Given the description of an element on the screen output the (x, y) to click on. 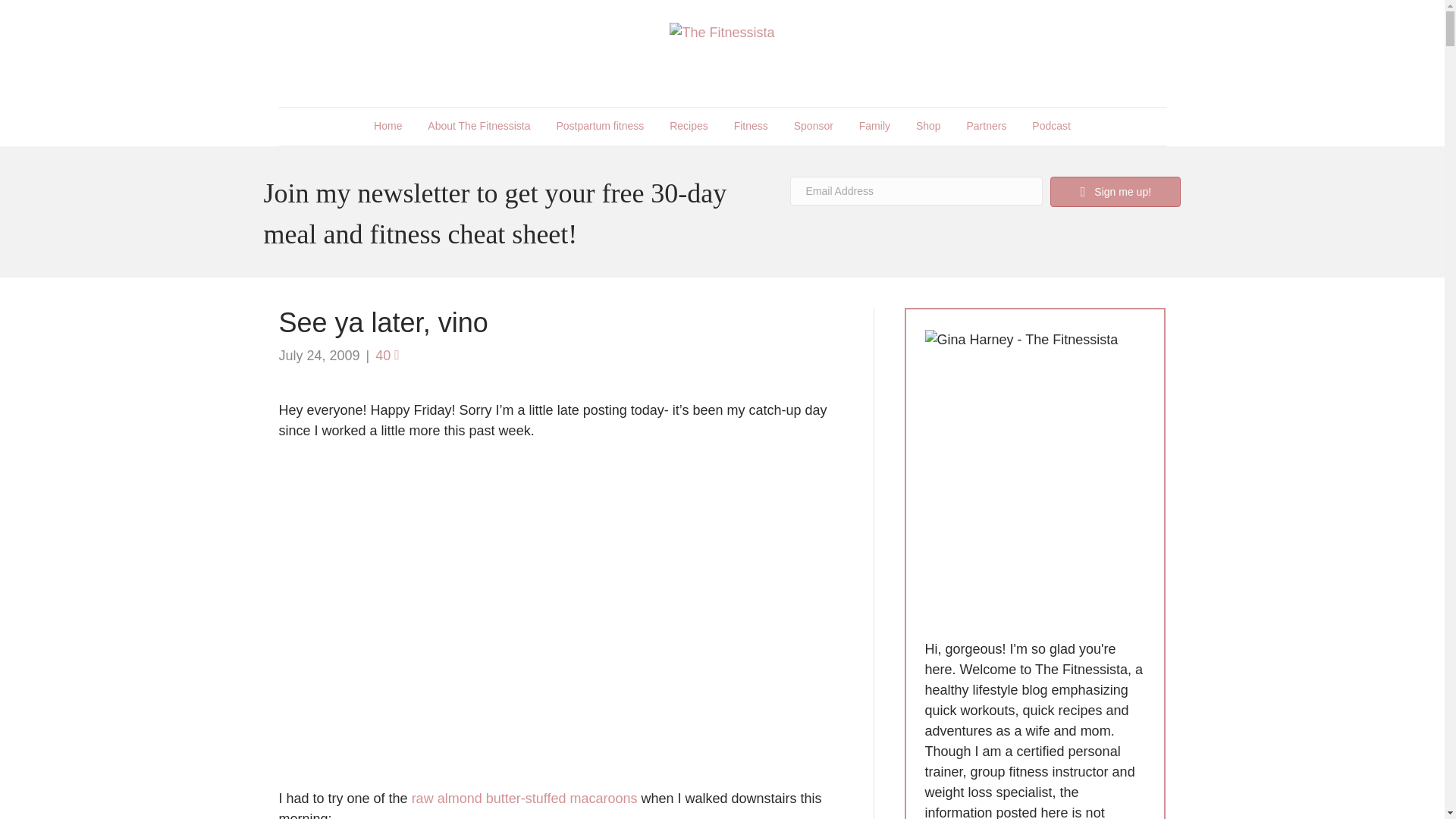
Home (387, 126)
